Given the description of an element on the screen output the (x, y) to click on. 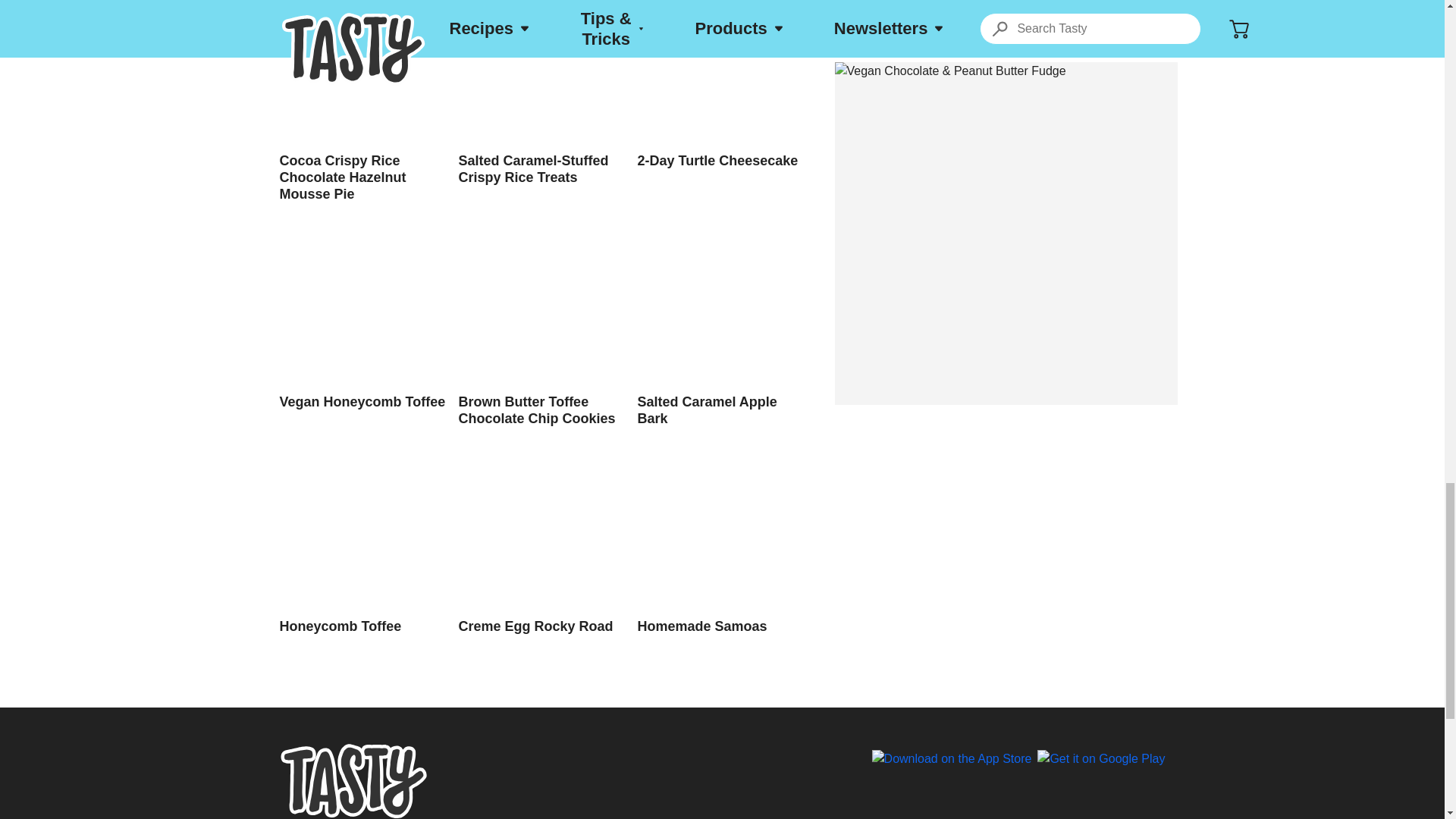
Salted Caramel-Stuffed Crispy Rice Treats (541, 92)
Tasty Logo footer (353, 780)
2-Day Turtle Cheesecake (720, 84)
